Given the description of an element on the screen output the (x, y) to click on. 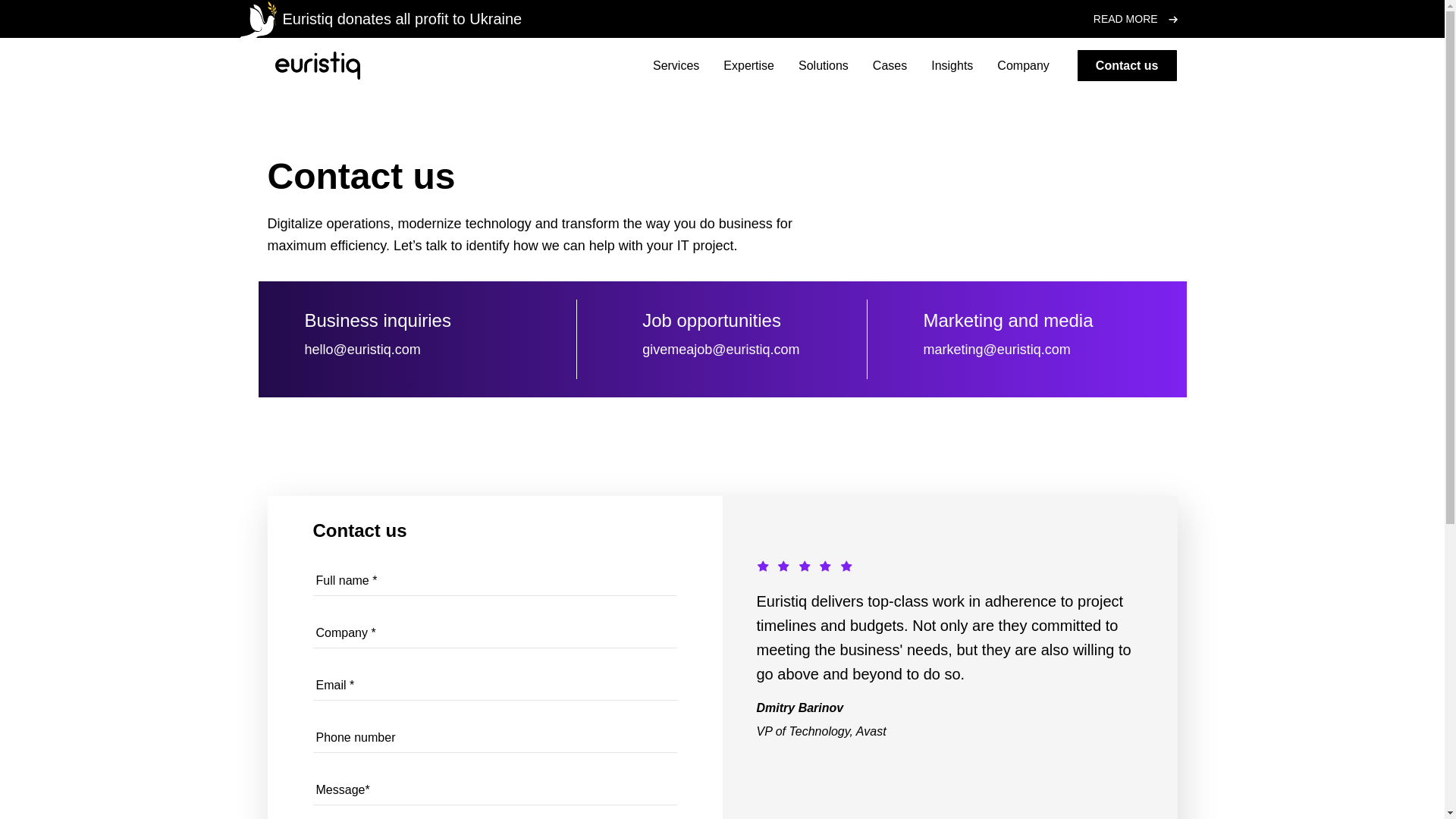
Company (1022, 65)
Expertise (748, 65)
Services (675, 65)
Solutions (823, 65)
Insights (951, 65)
Contact us (1127, 65)
READ MORE (1135, 18)
